Given the description of an element on the screen output the (x, y) to click on. 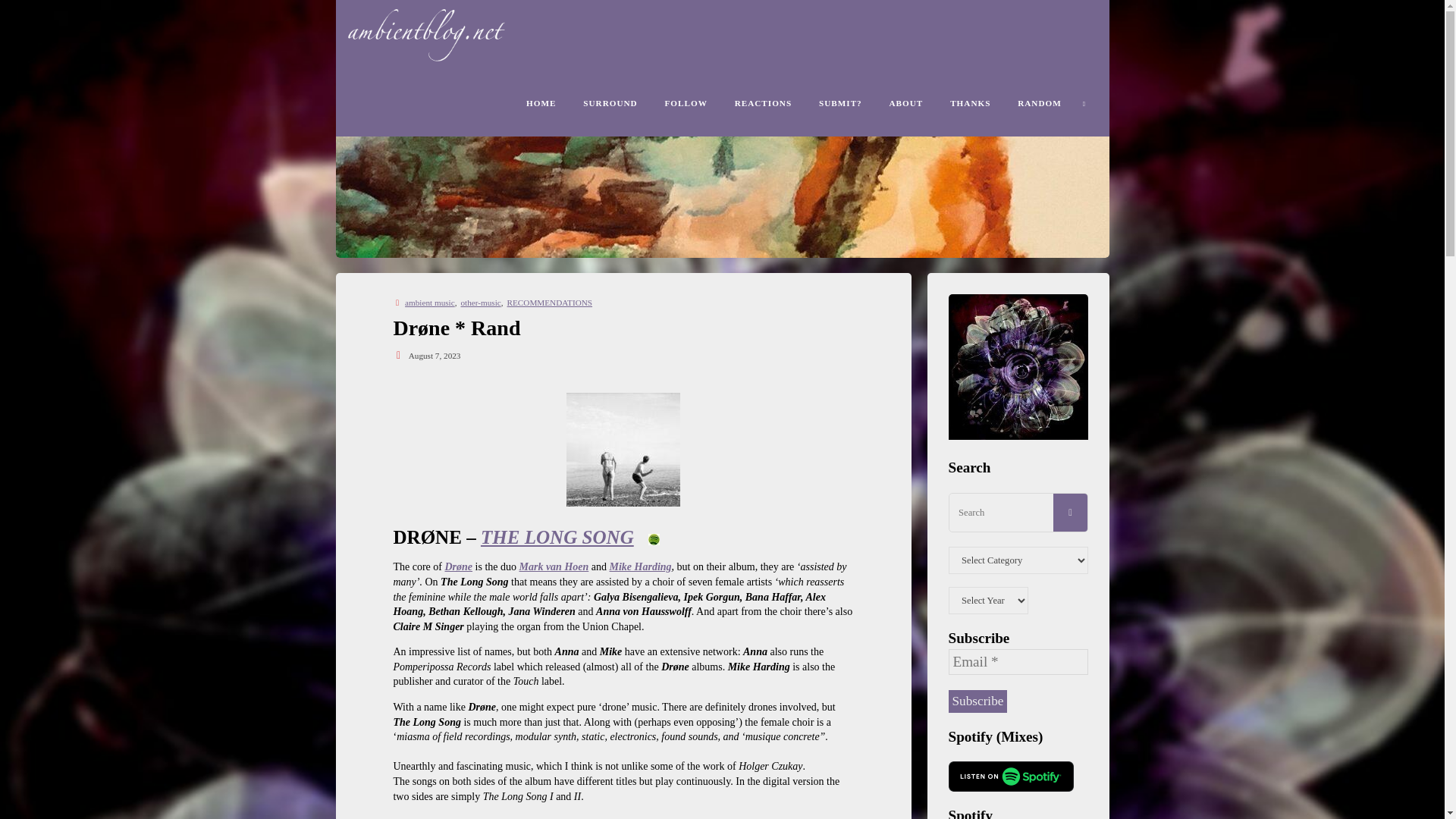
FOLLOW (685, 101)
SUBMIT? (840, 101)
RECOMMENDATIONS (548, 302)
Subscribe (977, 701)
other-music (479, 302)
ambient music (428, 302)
REACTIONS (762, 101)
THE LONG SONG (556, 537)
THANKS (970, 101)
SURROUND (609, 101)
Mike Harding (640, 566)
ABOUT (906, 101)
RANDOM (1039, 101)
Ambientblog (439, 33)
Mark van Hoen (553, 566)
